Given the description of an element on the screen output the (x, y) to click on. 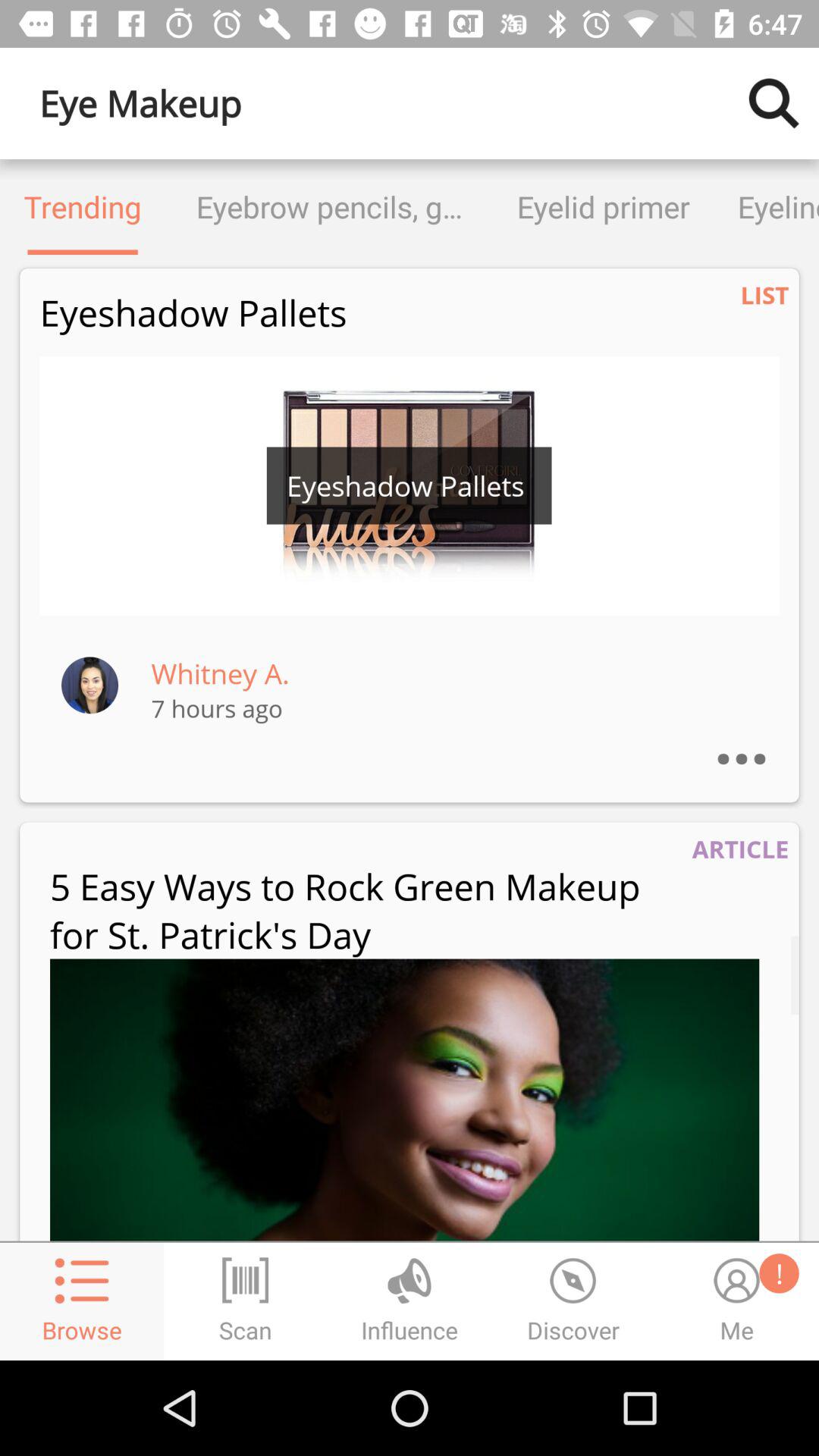
click prile (89, 684)
